Given the description of an element on the screen output the (x, y) to click on. 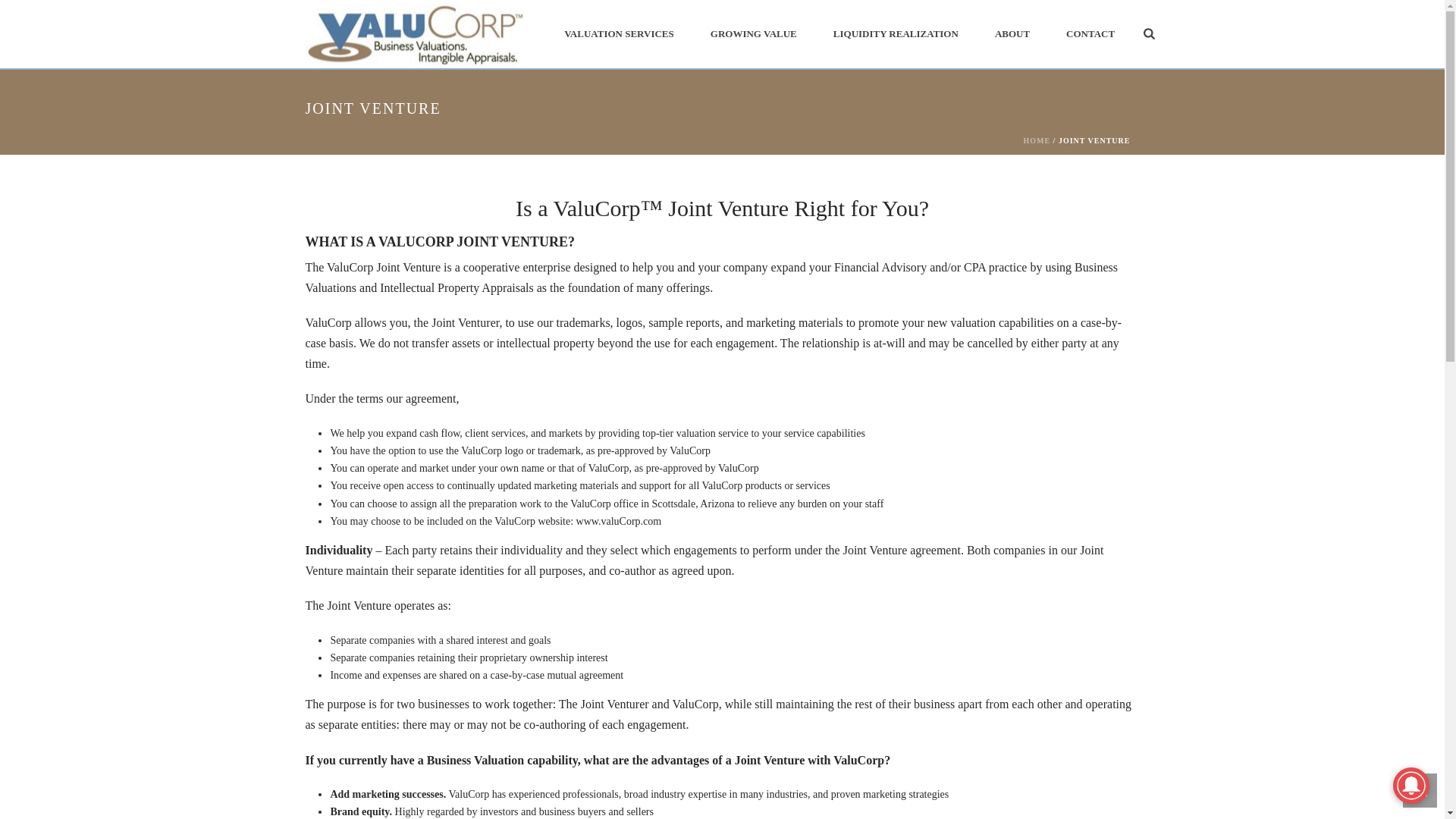
LIQUIDITY REALIZATION (895, 33)
VALUATION SERVICES (618, 33)
GROWING VALUE (753, 33)
VALUATION SERVICES (618, 33)
Business Valuations. Intangible Appraisals. (414, 34)
ABOUT (1012, 33)
LIQUIDITY REALIZATION (895, 33)
GROWING VALUE (753, 33)
CONTACT (1090, 33)
ABOUT (1012, 33)
